Given the description of an element on the screen output the (x, y) to click on. 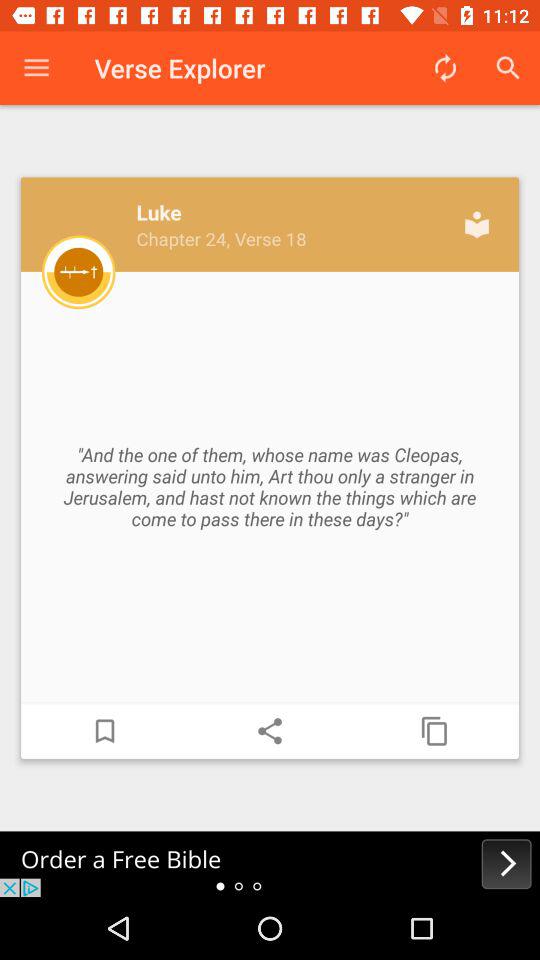
go to bible advertisement (270, 864)
